Given the description of an element on the screen output the (x, y) to click on. 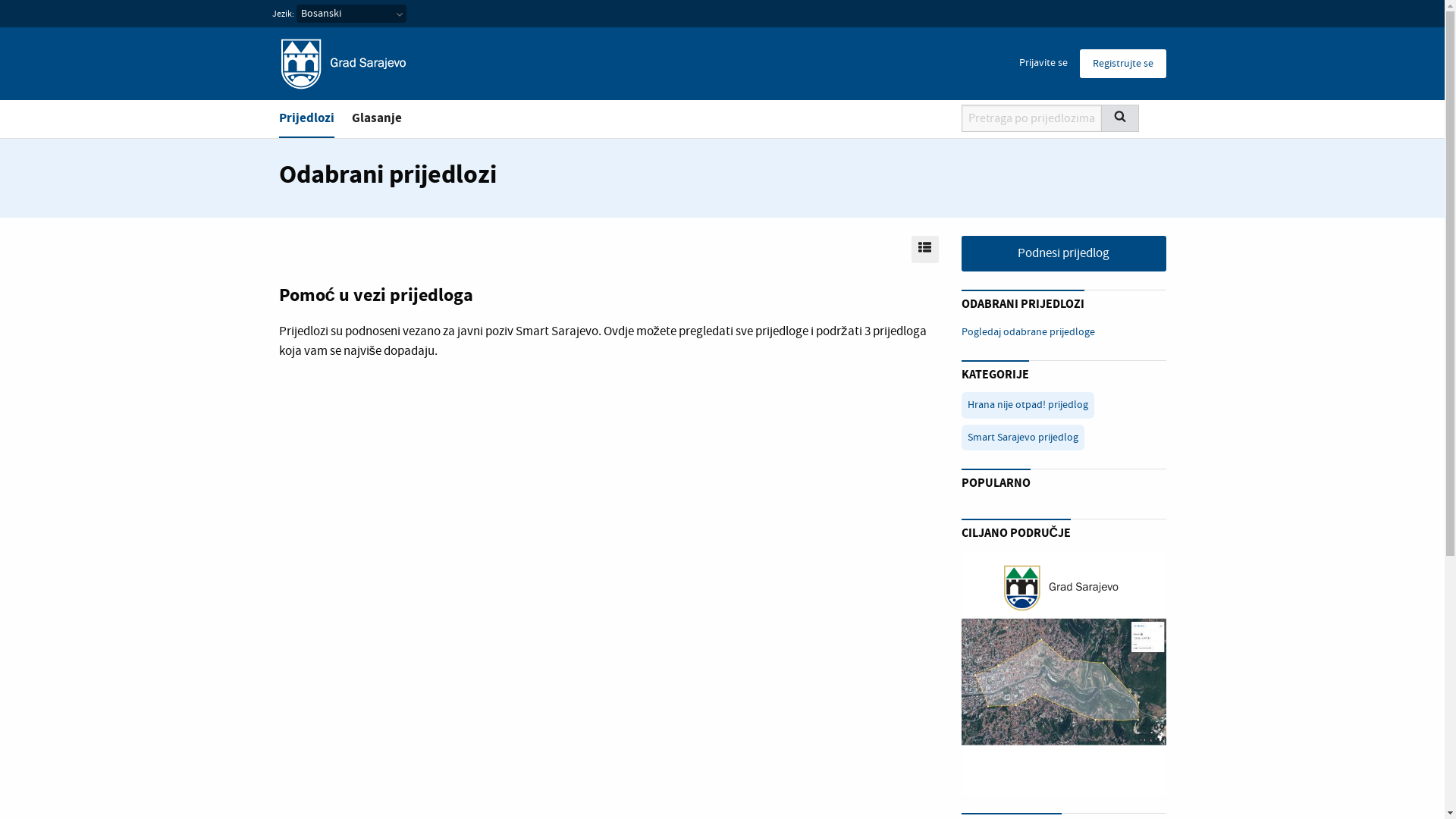
Smart Sarajevo prijedlog Element type: text (1022, 437)
Lista okruga Element type: hover (1063, 672)
Prijedlozi Element type: text (306, 119)
Prijavite se Element type: text (1043, 62)
Registrujte se Element type: text (1122, 63)
Opcija gledanja Element type: text (924, 249)
Glasanje Element type: text (376, 118)
Hrana nije otpad! prijedlog Element type: text (1027, 404)
Pogledaj odabrane prijedloge Element type: text (1028, 331)
Podnesi prijedlog Element type: text (1063, 253)
